Given the description of an element on the screen output the (x, y) to click on. 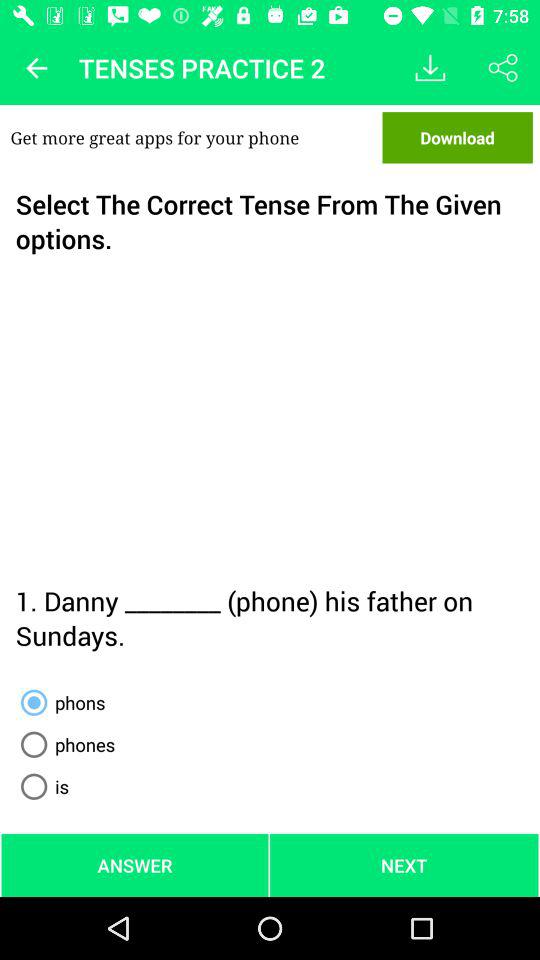
turn off the app to the left of the tenses practice 2 icon (36, 68)
